Given the description of an element on the screen output the (x, y) to click on. 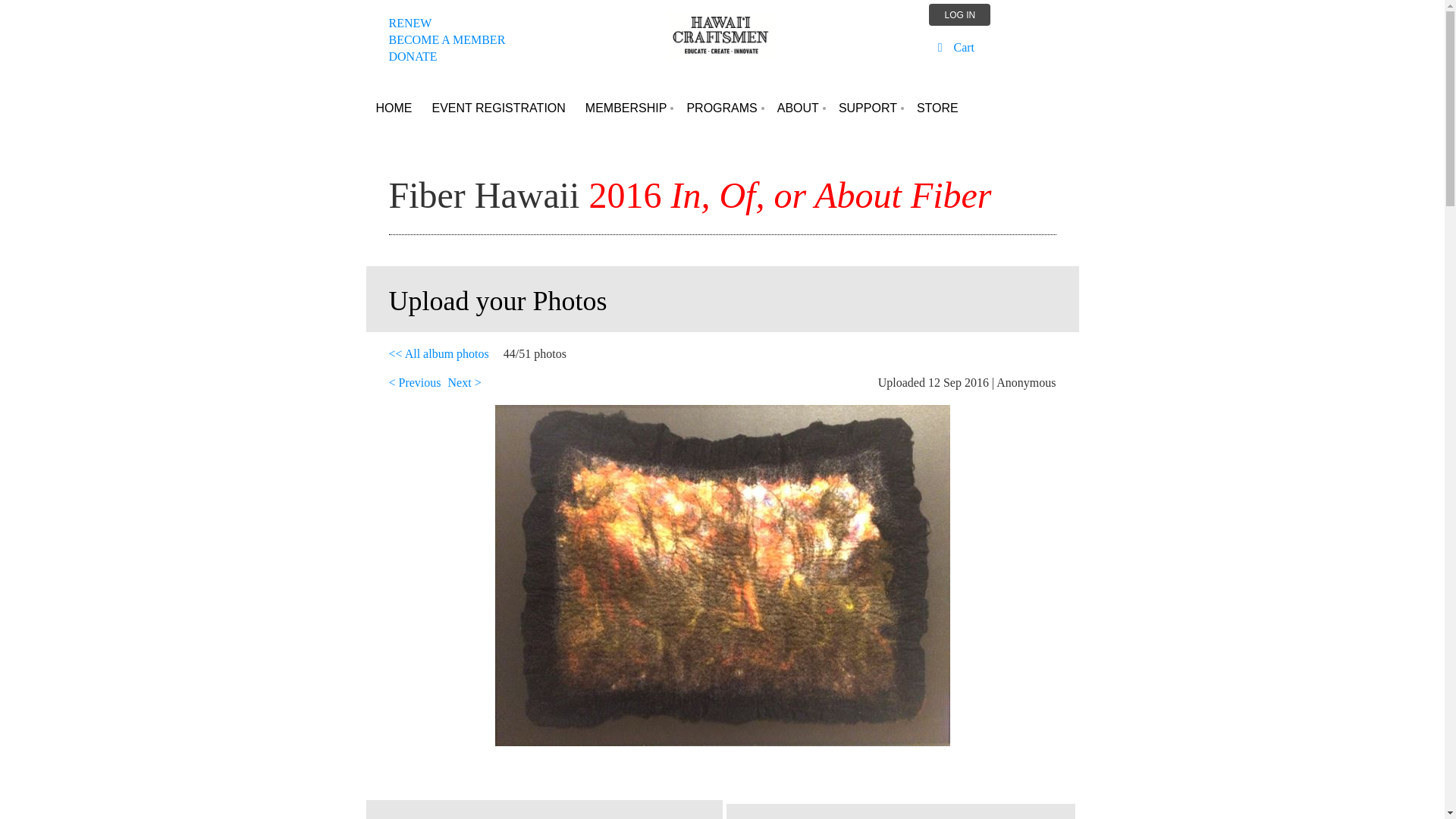
PROGRAMS (722, 108)
HOME (393, 108)
ABOUT (448, 48)
SUPPORT (797, 108)
MEMBERSHIP (867, 108)
HOME (626, 108)
RENEW (393, 108)
EVENT REGISTRATION (409, 22)
LOG IN (498, 108)
BECOME A MEMBER (959, 14)
EVENT REGISTRATION (446, 39)
MEMBERSHIP (498, 108)
STORE (626, 108)
